Given the description of an element on the screen output the (x, y) to click on. 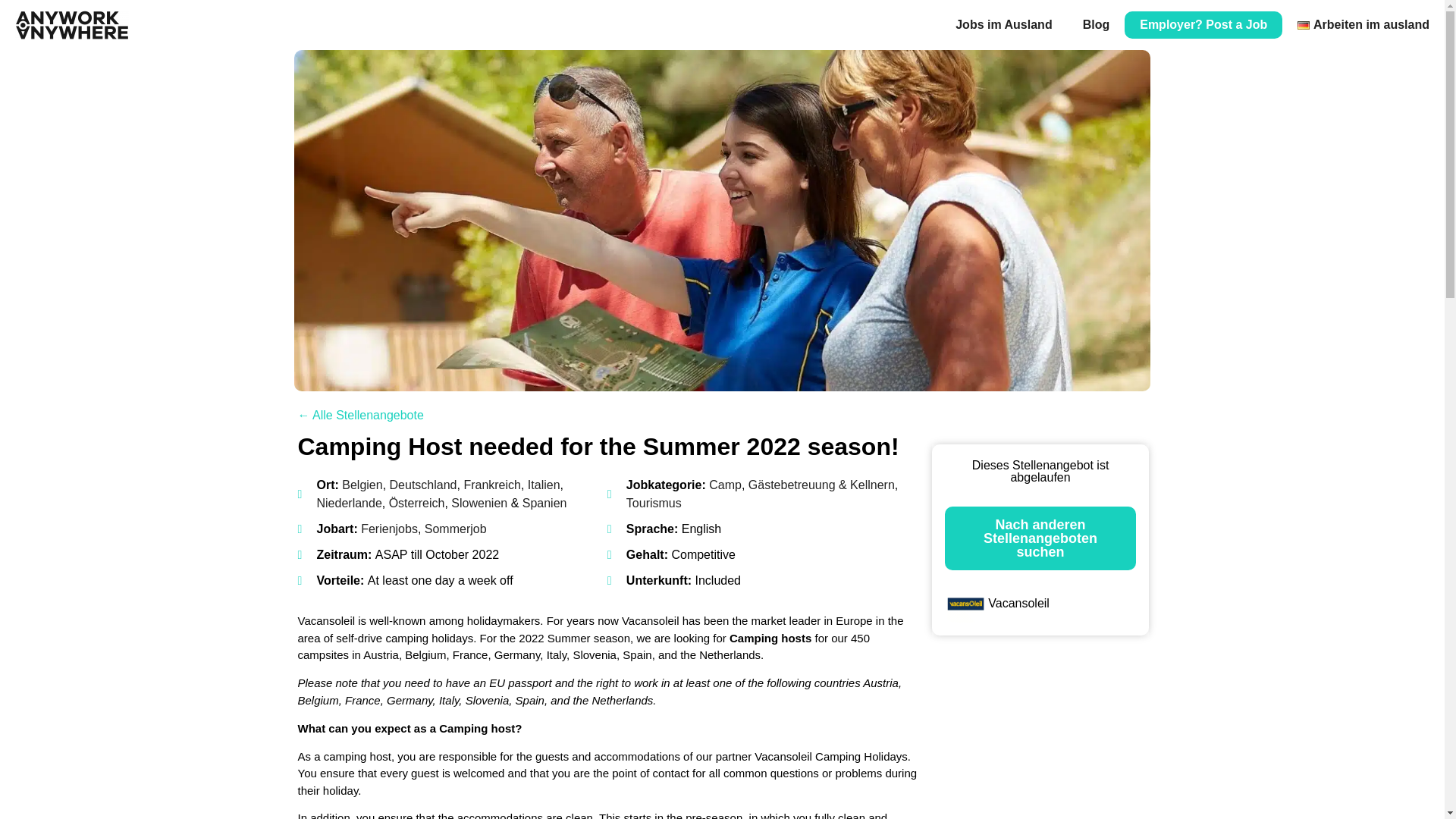
Blog (1096, 24)
Employer? Post a Job (1203, 24)
Jobs im Ausland (1003, 24)
